Given the description of an element on the screen output the (x, y) to click on. 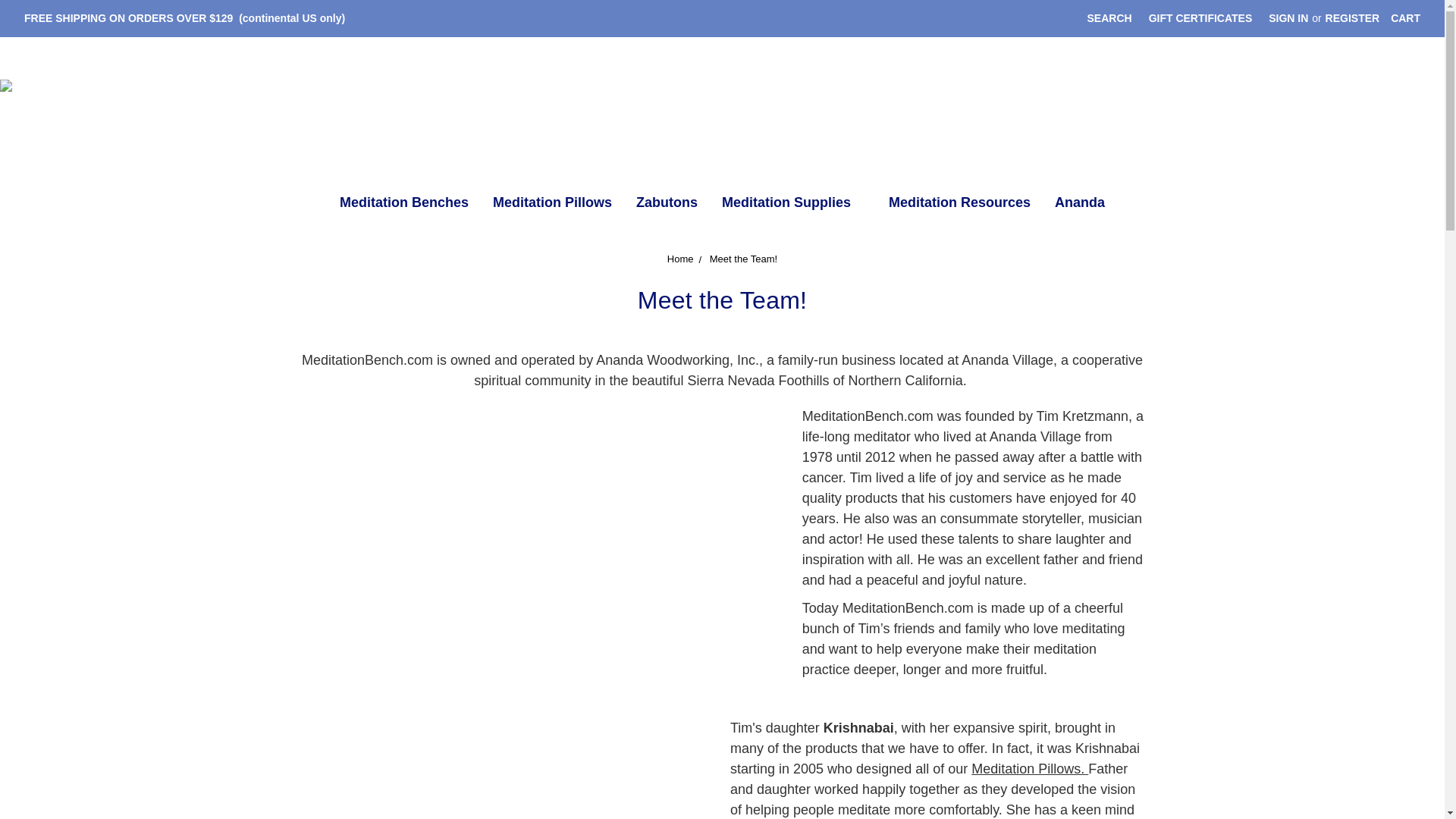
SEARCH (1109, 18)
Ananda (1079, 204)
Home (680, 258)
GIFT CERTIFICATES (1200, 18)
REGISTER (1353, 18)
Meditation Benches (403, 204)
Meditation Pillows. (1029, 768)
Meditation Supplies (793, 204)
SIGN IN (1288, 18)
Meditation Pillows (552, 204)
